Given the description of an element on the screen output the (x, y) to click on. 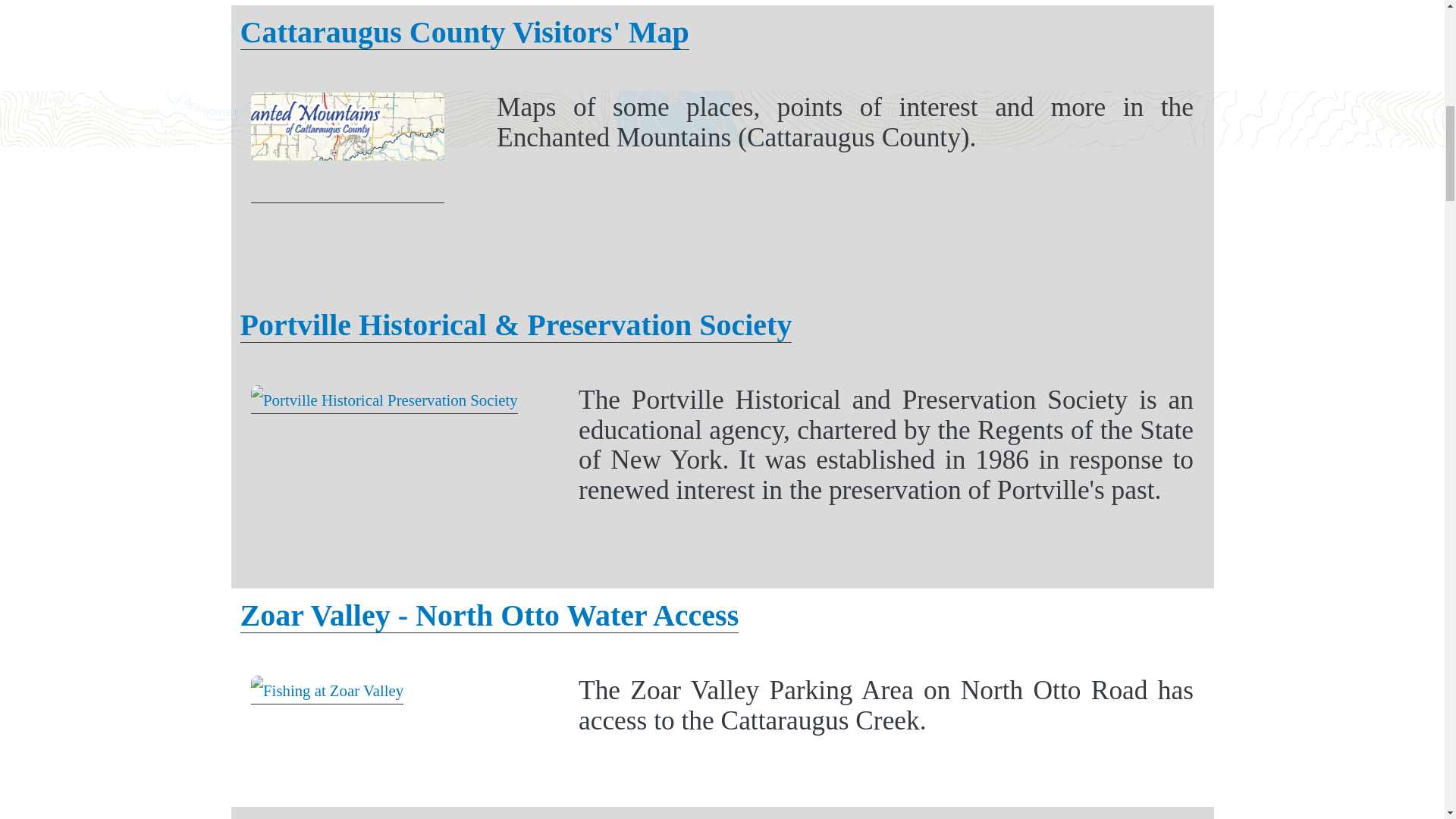
Zoar Valley - North Otto Water Access (489, 615)
Cattaraugus County Visitors' Map (464, 32)
